Given the description of an element on the screen output the (x, y) to click on. 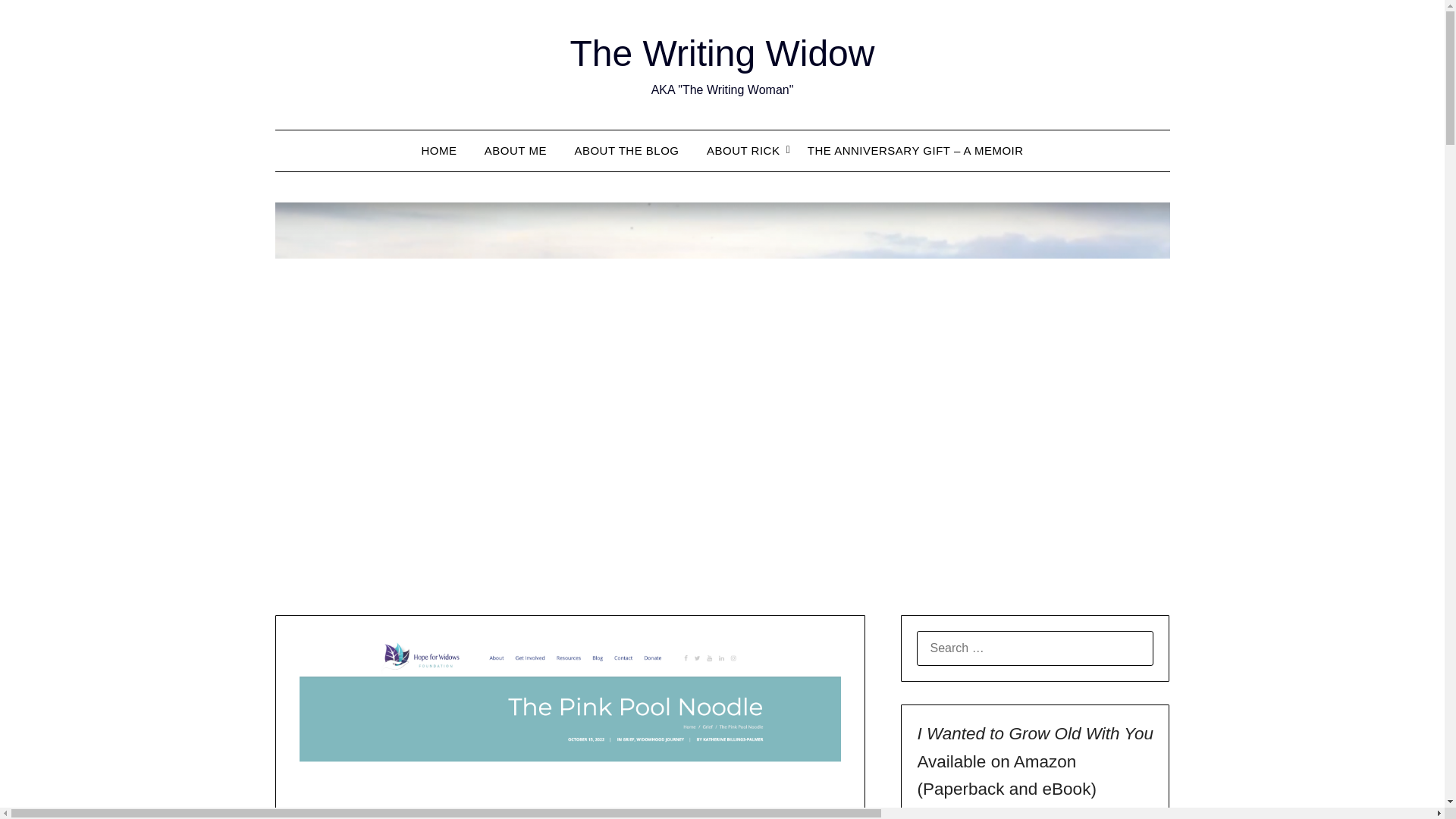
ABOUT THE BLOG (626, 150)
The Writing Widow (722, 53)
ABOUT ME (515, 150)
Search (38, 22)
HOME (438, 150)
ABOUT RICK (743, 150)
